Given the description of an element on the screen output the (x, y) to click on. 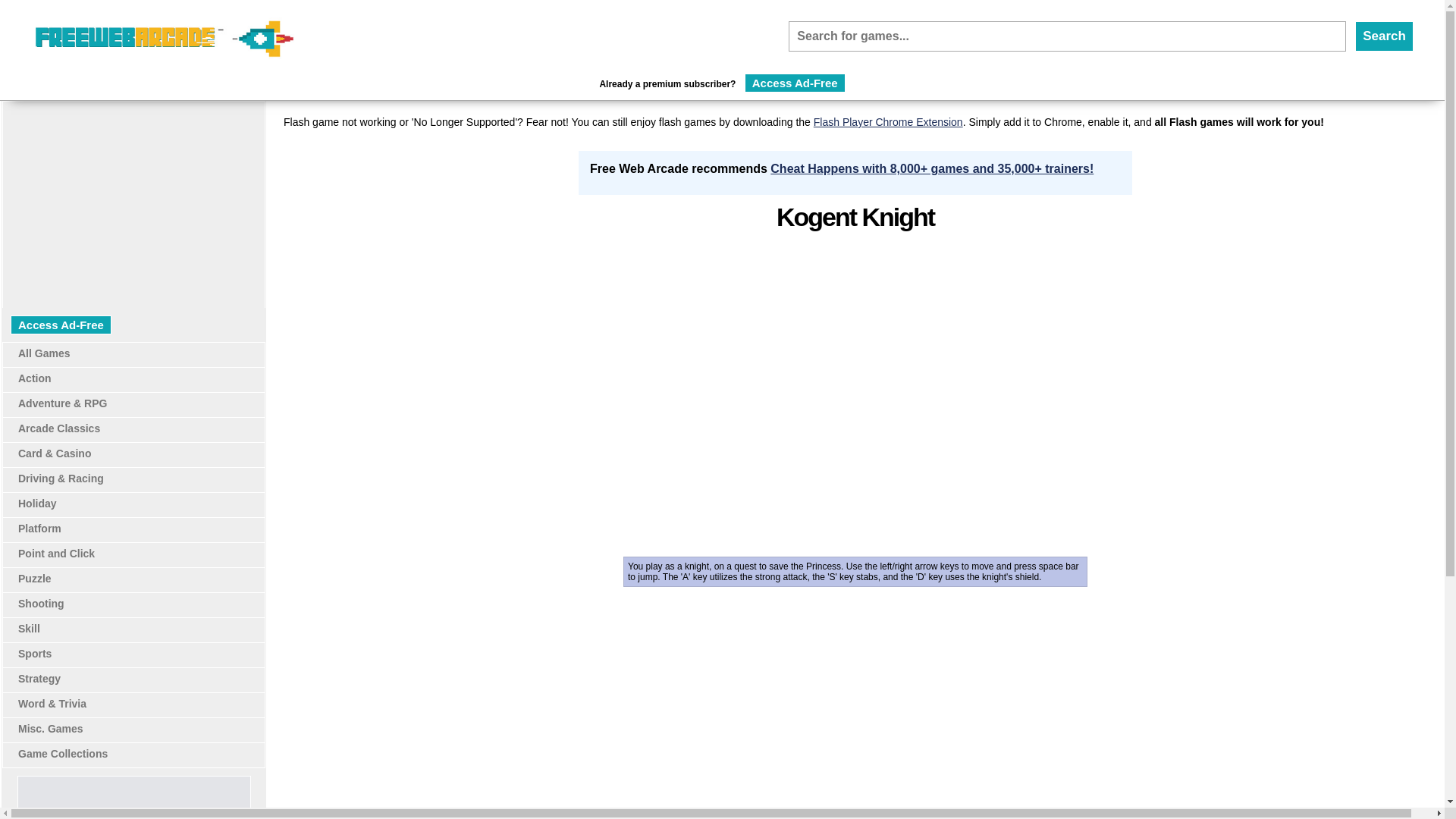
Misc. Games (49, 728)
All Games (43, 353)
Point and Click (55, 553)
Skill (28, 628)
Sports (33, 653)
Strategy (39, 678)
Flash Player Chrome Extension (887, 121)
Search (1384, 36)
Shooting (40, 603)
Action (33, 378)
